Given the description of an element on the screen output the (x, y) to click on. 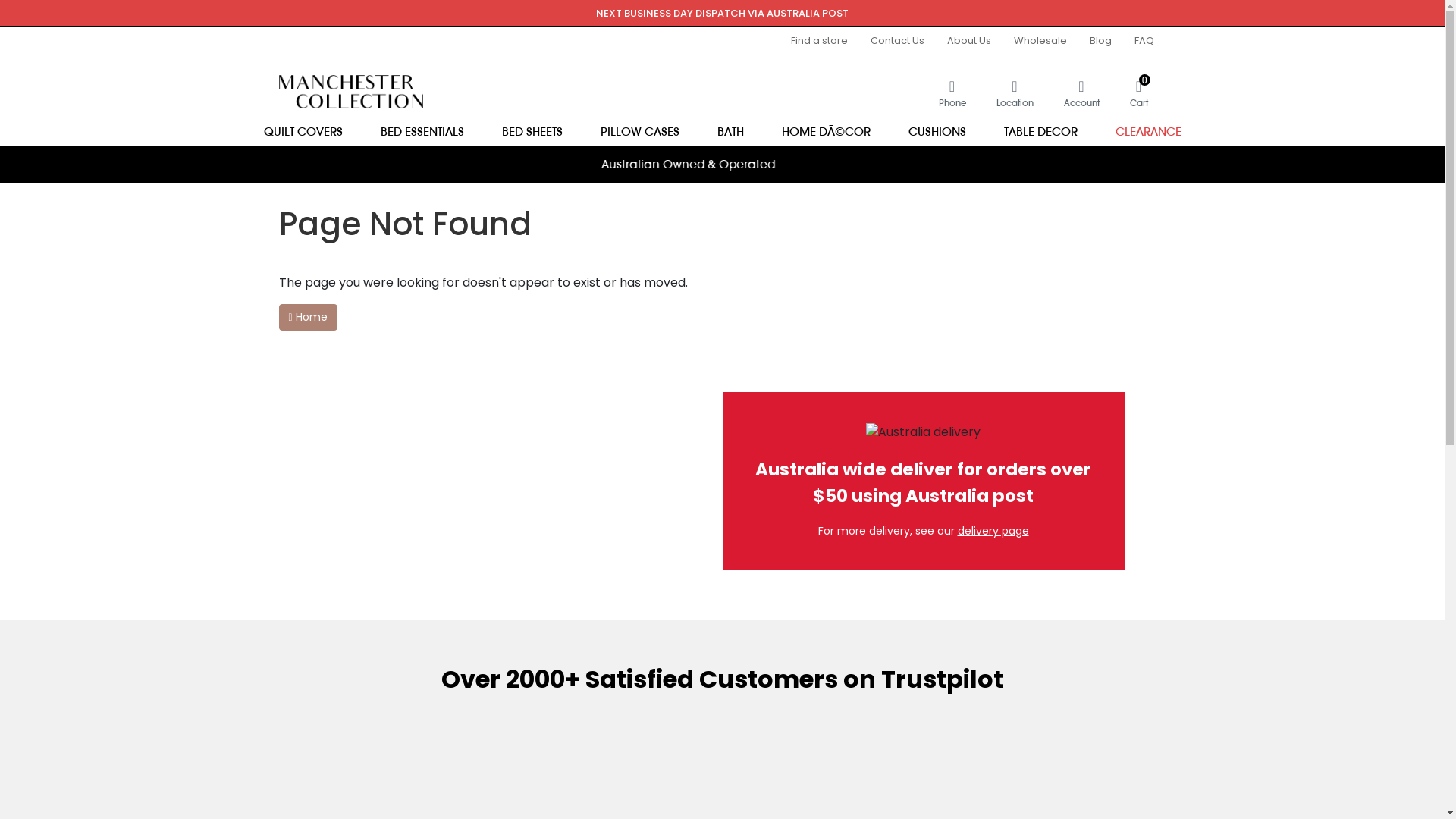
FAQ Element type: text (1137, 40)
Blog Element type: text (1100, 40)
BED ESSENTIALS Element type: text (421, 130)
BED SHEETS Element type: text (531, 130)
CUSHIONS Element type: text (936, 130)
Contact Us Element type: text (896, 40)
PILLOW CASES Element type: text (638, 130)
Account Element type: text (1080, 92)
CLEARANCE Element type: text (1148, 130)
Australian Owned & Operated Element type: text (722, 164)
About Us Element type: text (968, 40)
delivery page Element type: text (992, 530)
Phone Element type: text (952, 92)
Customer reviews powered by Trustpilot Element type: hover (722, 196)
TABLE DECOR Element type: text (1039, 130)
Cart
0 Element type: text (1132, 92)
QUILT COVERS Element type: text (302, 130)
Manchester Collection Element type: hover (351, 91)
Home Element type: text (308, 317)
BATH Element type: text (729, 130)
Find a store Element type: text (819, 40)
Wholesale Element type: text (1040, 40)
Location Element type: text (1014, 92)
